Given the description of an element on the screen output the (x, y) to click on. 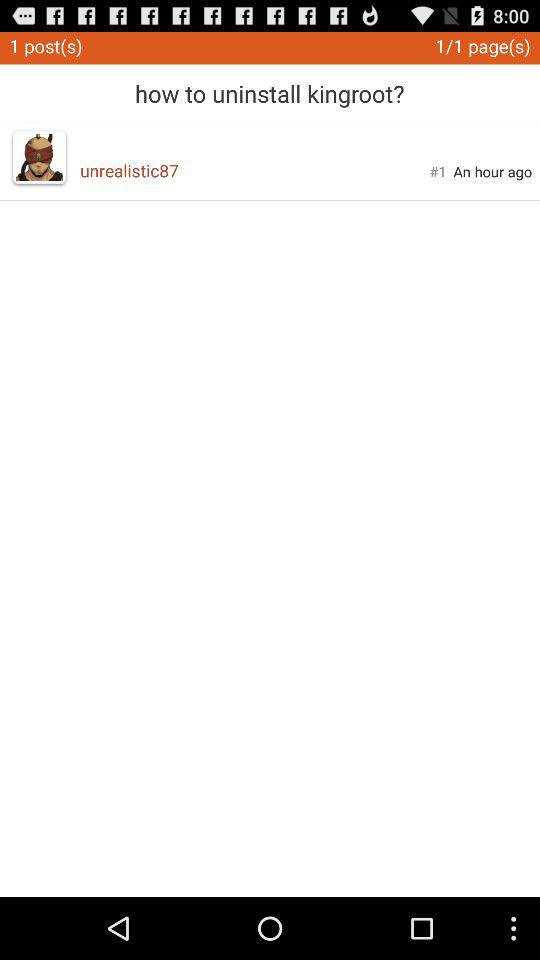
tap app next to unrealistic87 icon (39, 157)
